Given the description of an element on the screen output the (x, y) to click on. 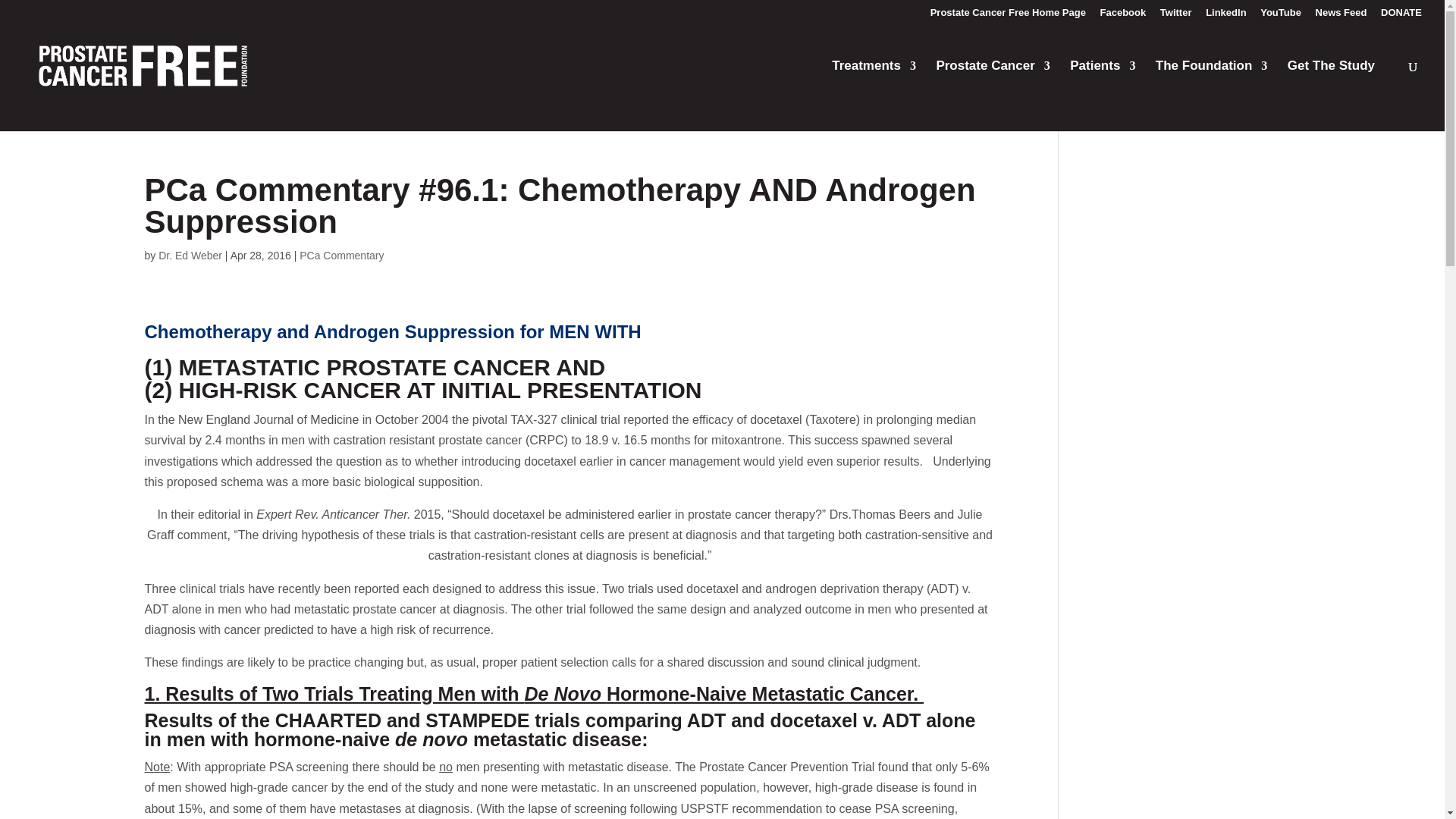
The Foundation (1211, 84)
YouTube (1280, 16)
LinkedIn (1225, 16)
Facebook (1123, 16)
DONATE (1401, 16)
Twitter (1176, 16)
Prostate Cancer (992, 84)
Patients (1102, 84)
Prostate Cancer Free Home Page (1008, 16)
Treatments (873, 84)
News Feed (1341, 16)
